Given the description of an element on the screen output the (x, y) to click on. 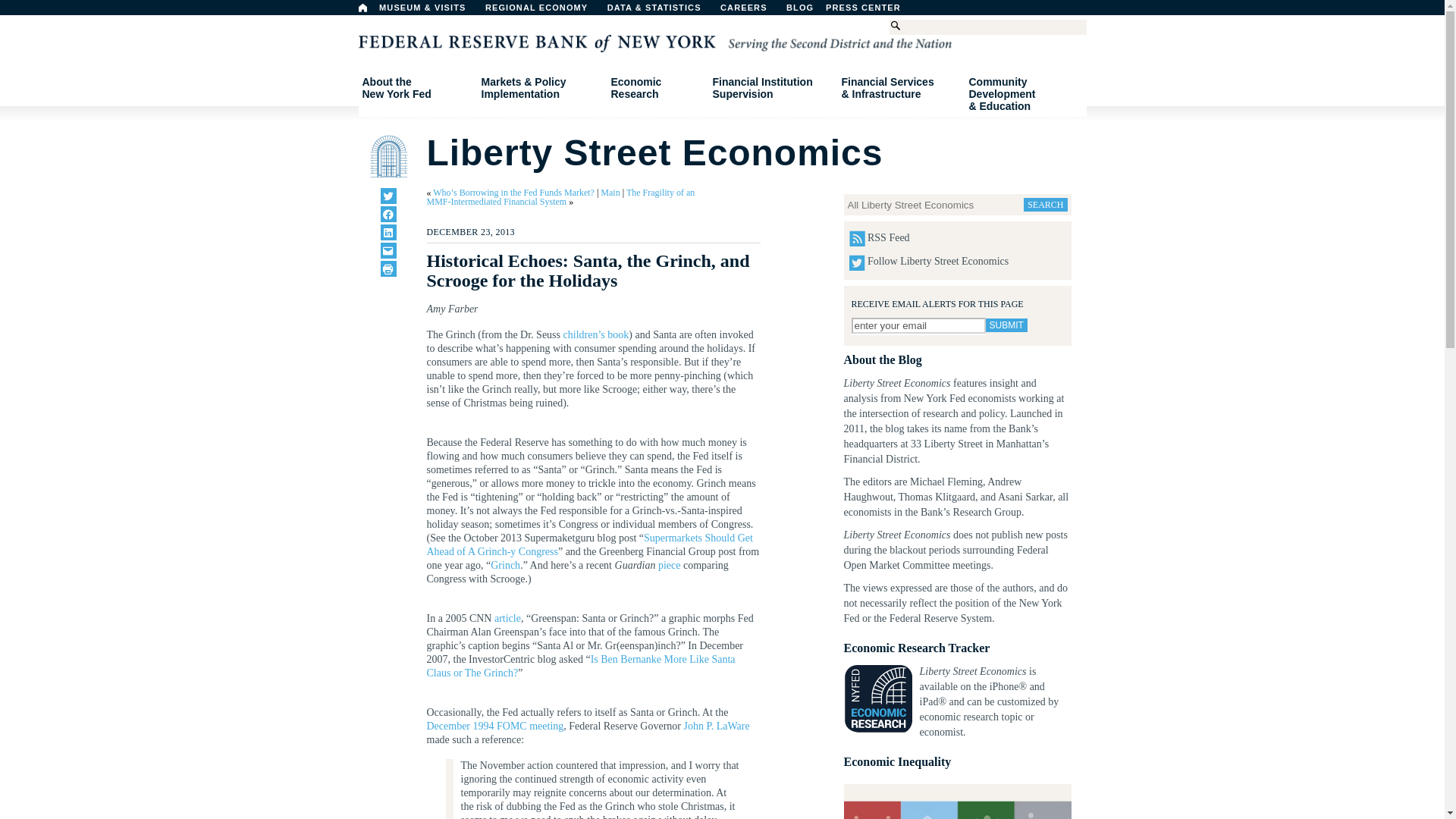
Click to share on LinkedIn (388, 232)
Submit (1006, 325)
Click to share on Facebook (388, 213)
REGIONAL ECONOMY (543, 11)
Click to share on Twitter (388, 195)
Click to print (388, 268)
Click to email a link to a friend (388, 250)
BLOG (839, 11)
enter your email (917, 325)
CAREERS (751, 11)
PRESS CENTER (415, 87)
Home (870, 11)
